Given the description of an element on the screen output the (x, y) to click on. 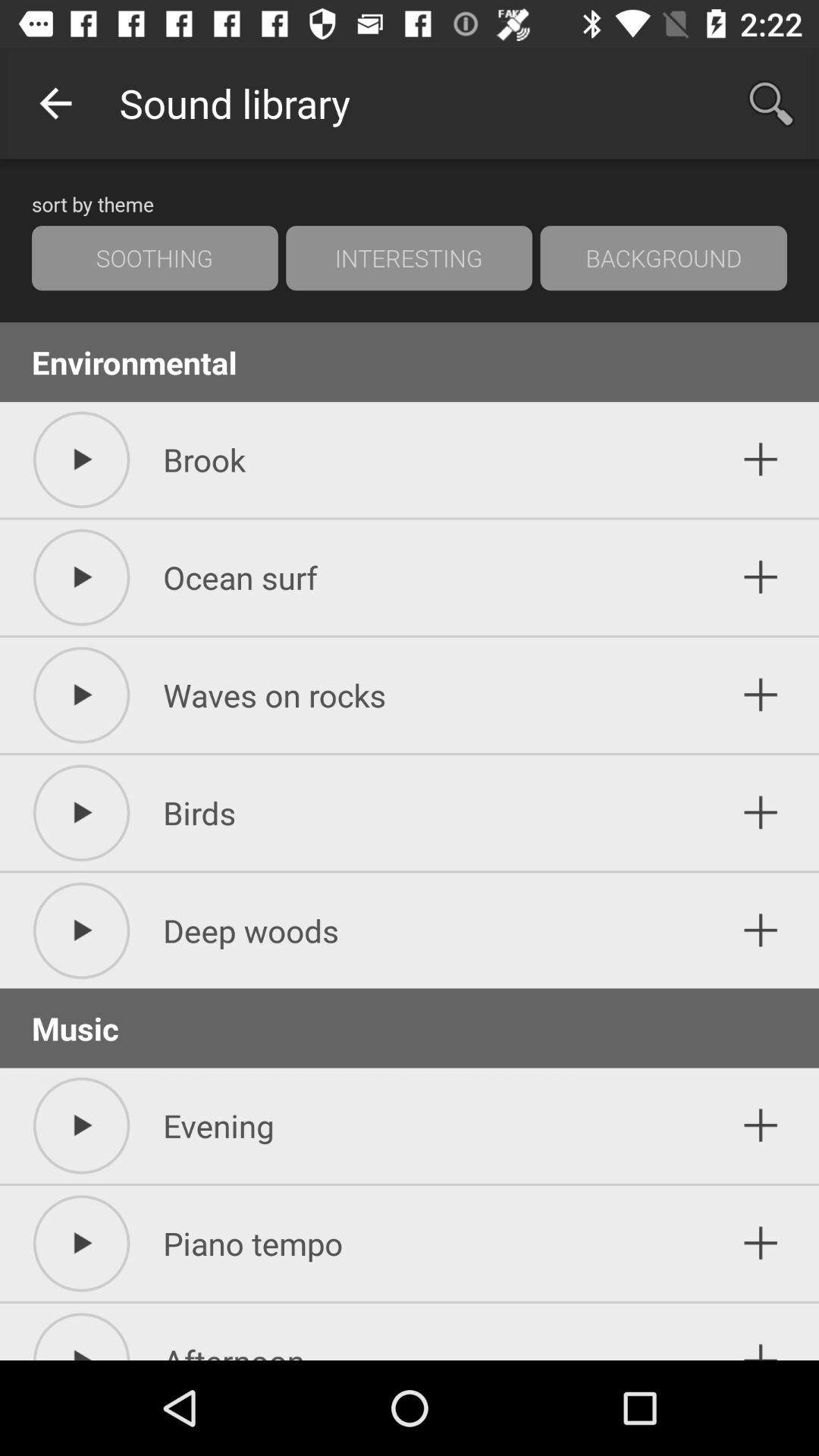
flip until the background (663, 257)
